Given the description of an element on the screen output the (x, y) to click on. 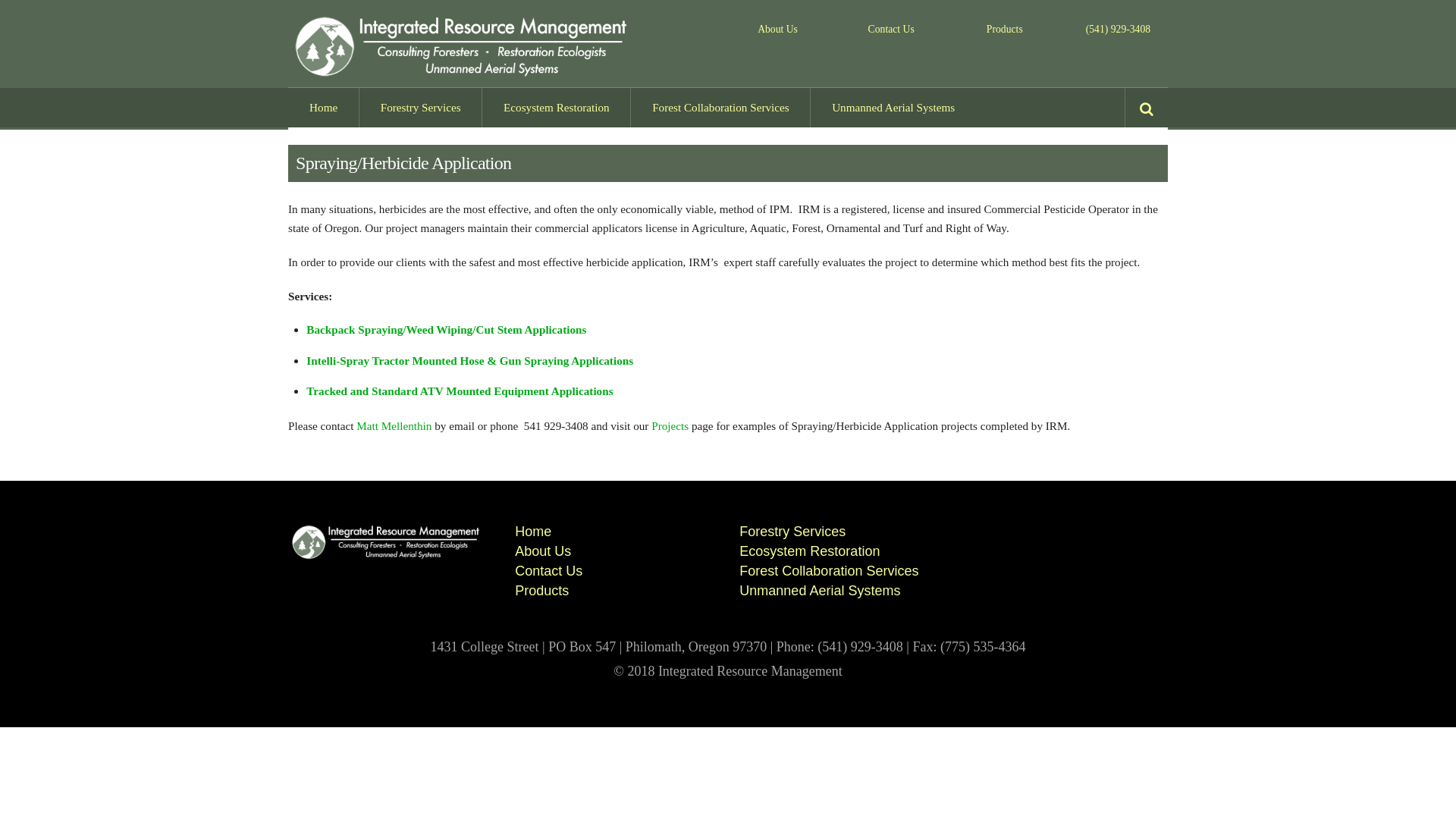
Integrated Resource Management (464, 73)
Integrated Resource Management (387, 541)
Ecosystem Restoration (555, 107)
Home (323, 107)
Integrated Resource Management (387, 556)
Forestry Services (419, 107)
Integrated Resource Management (464, 45)
